Given the description of an element on the screen output the (x, y) to click on. 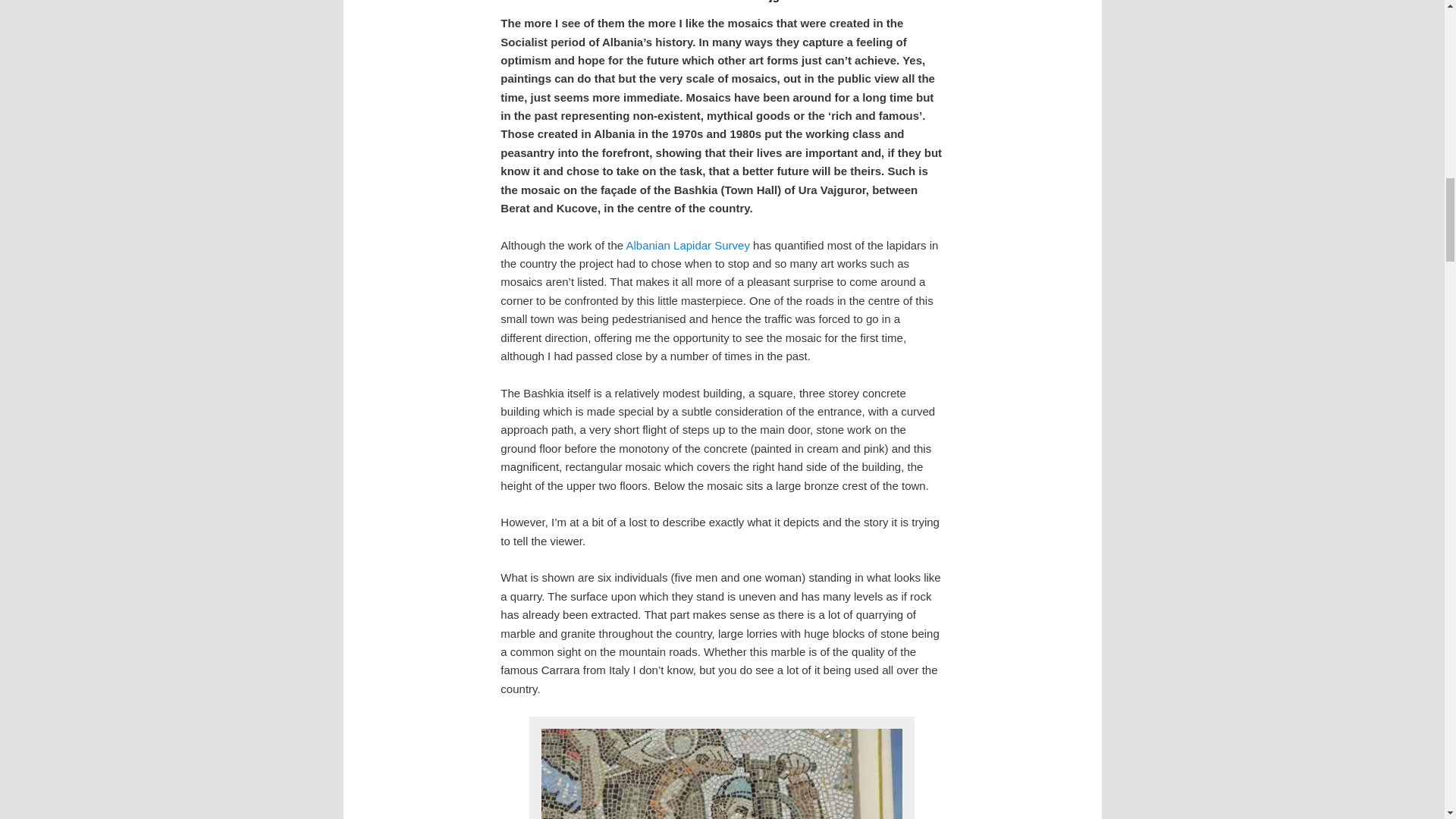
Albanian Lapidar Survey (687, 245)
